Given the description of an element on the screen output the (x, y) to click on. 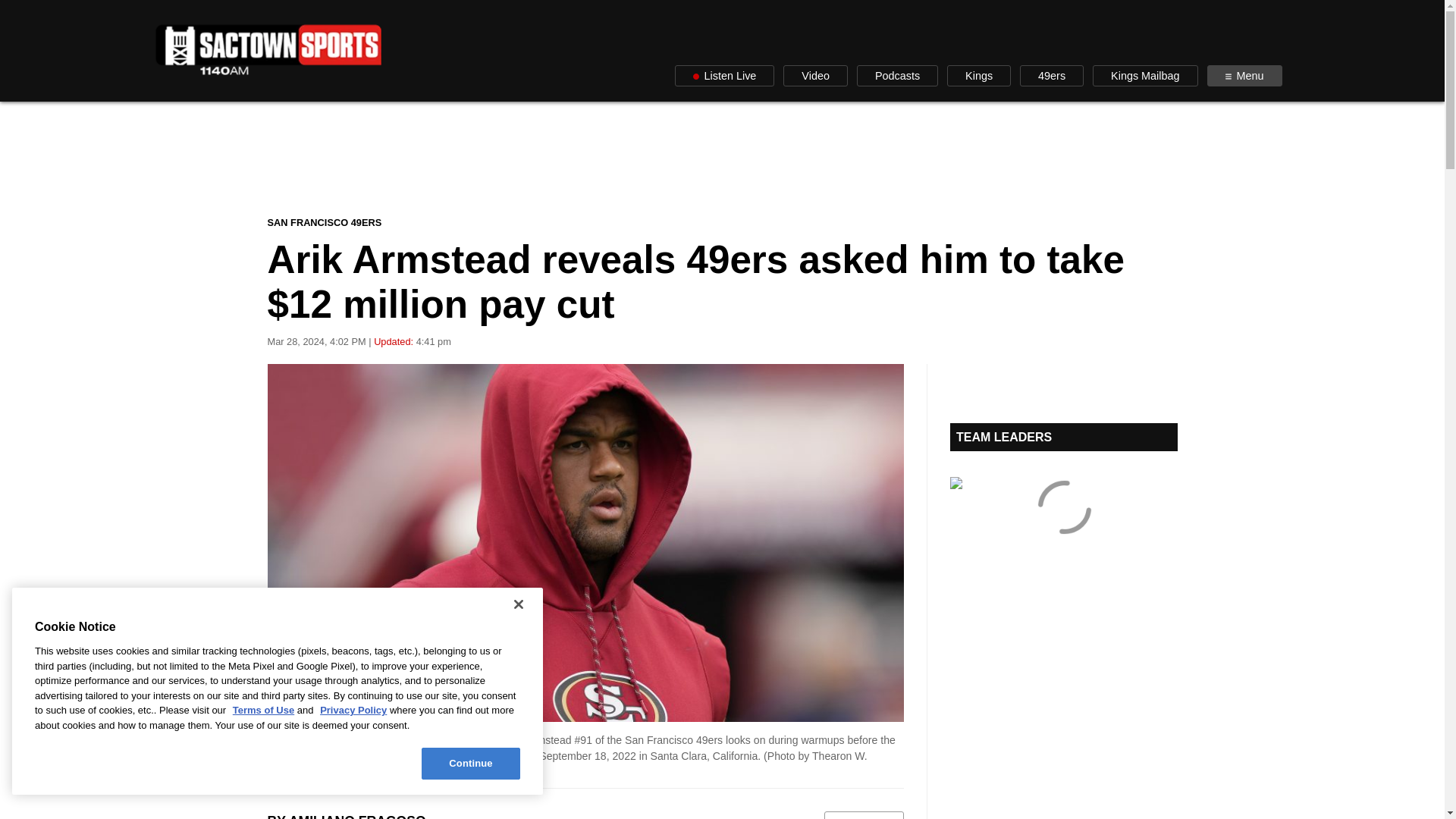
widget (1062, 528)
widget (1062, 437)
3rd party ad content (721, 158)
